Given the description of an element on the screen output the (x, y) to click on. 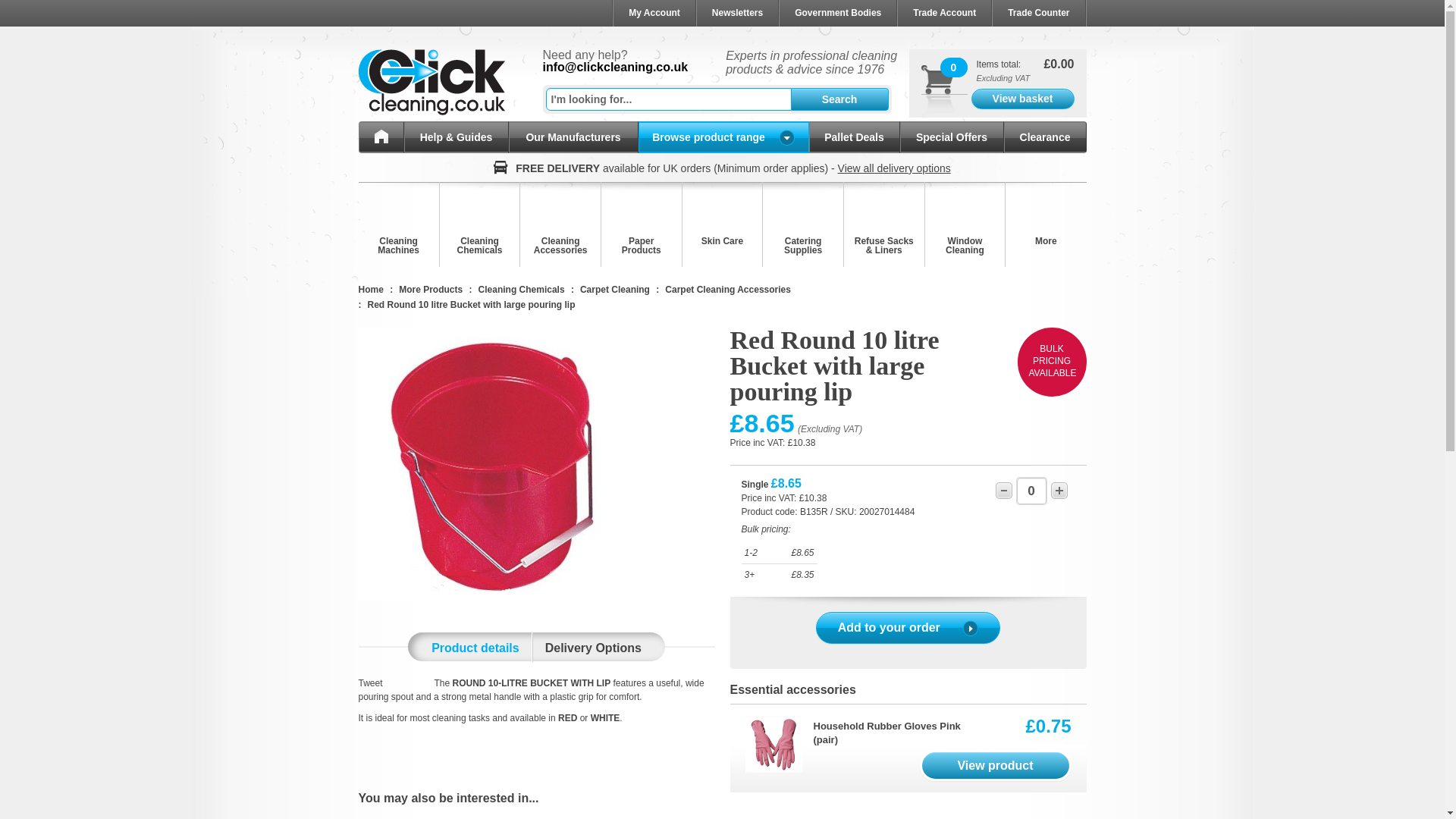
Click Cleaning Ltd (430, 82)
Trade Account (943, 13)
My Account (653, 13)
Government Bodies (837, 13)
Search (839, 98)
Trade Counter (1037, 13)
Browse product range (723, 137)
Newsletters (736, 13)
Our Manufacturers (573, 137)
View basket (1022, 98)
